Given the description of an element on the screen output the (x, y) to click on. 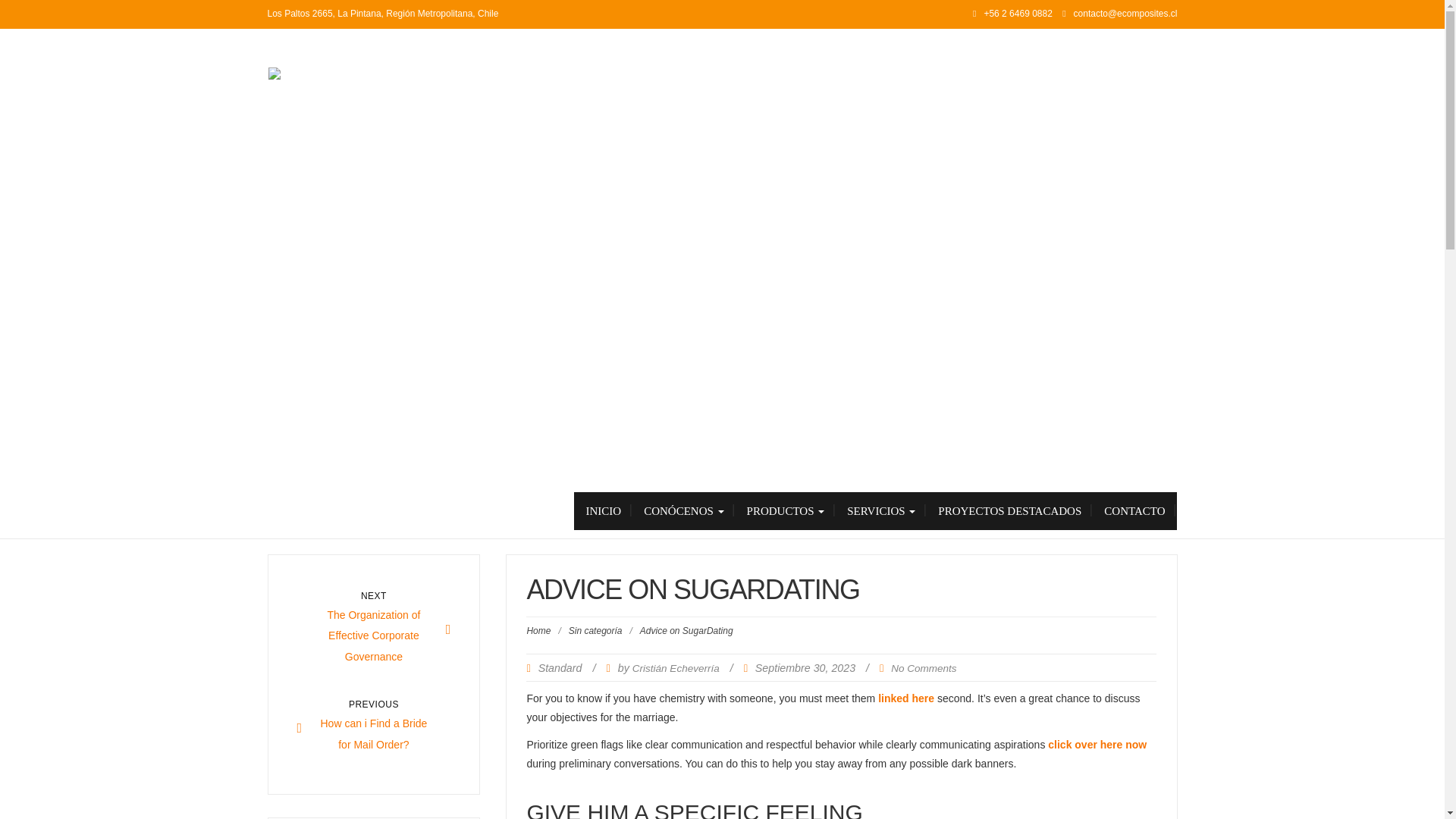
INICIO (602, 510)
click over here now (1097, 744)
No Comments (923, 668)
Home (537, 630)
INICIO (602, 510)
linked here (373, 728)
SERVICIOS (905, 698)
PROYECTOS DESTACADOS (880, 510)
CONTACTO (1009, 510)
SERVICIOS (1134, 510)
CONTACTO (880, 510)
PRODUCTOS (1134, 510)
PRODUCTOS (373, 630)
